Given the description of an element on the screen output the (x, y) to click on. 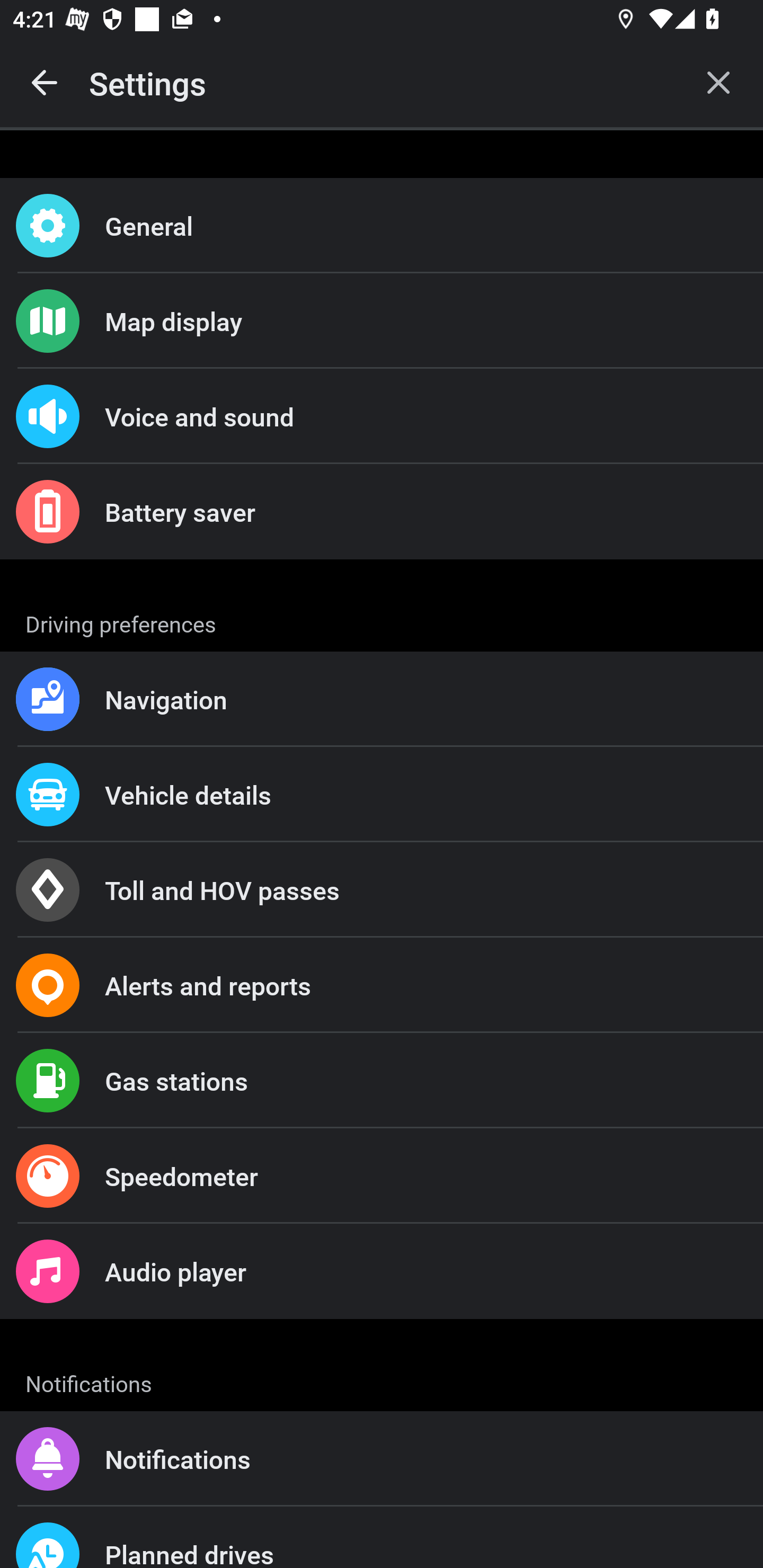
General (381, 225)
Map display (381, 320)
Voice and sound (381, 416)
Battery saver (381, 511)
ACTION_CELL_ICON Settings ACTION_CELL_TEXT (381, 620)
Navigation (381, 699)
Vehicle details (381, 794)
Toll and HOV passes (381, 889)
Alerts and reports (381, 985)
Gas stations (381, 1080)
Speedometer (381, 1175)
Audio player (381, 1270)
Notifications (381, 1458)
Planned drives (381, 1537)
